Given the description of an element on the screen output the (x, y) to click on. 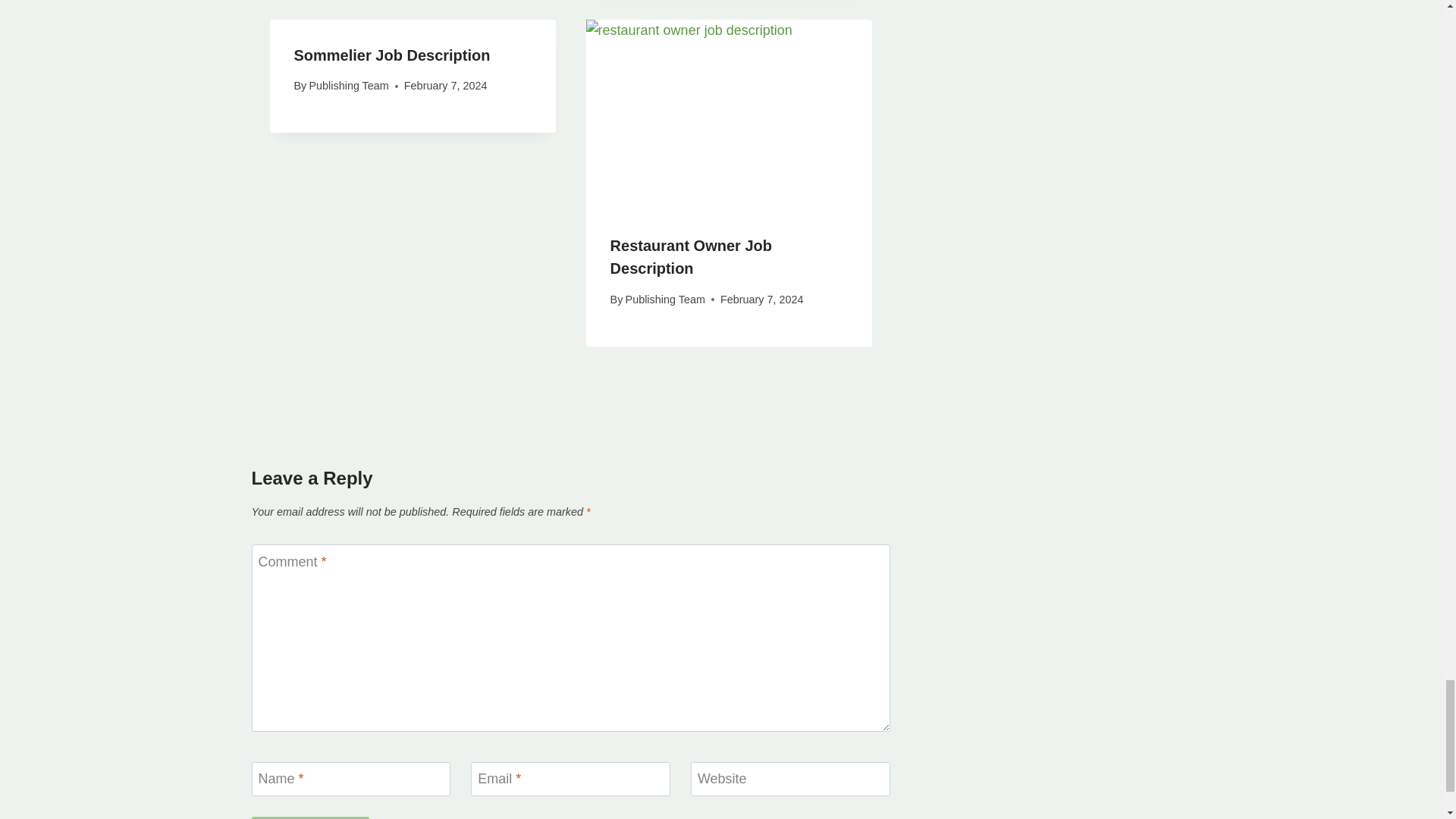
Post Comment (310, 817)
